Given the description of an element on the screen output the (x, y) to click on. 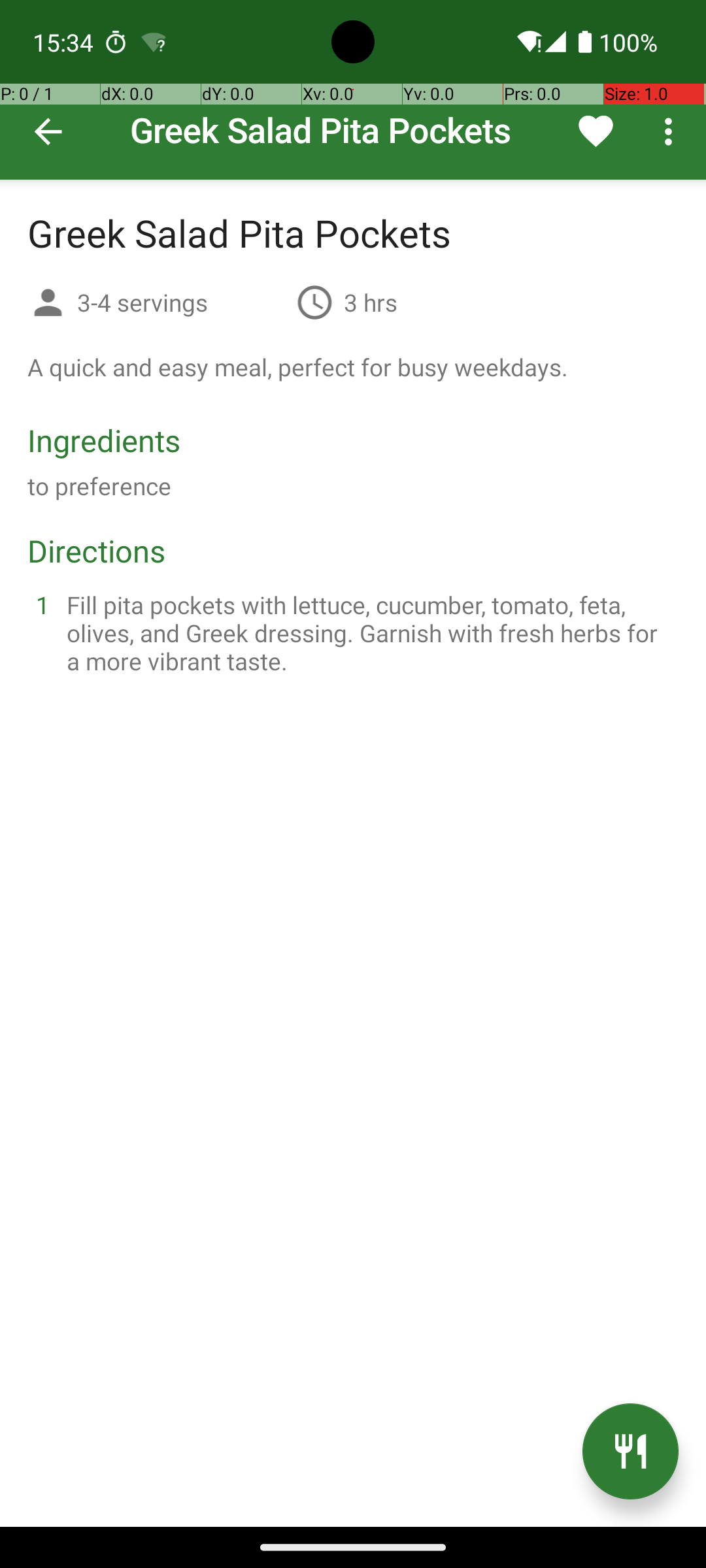
Greek Salad Pita Pockets Element type: android.widget.FrameLayout (353, 89)
Remove from favorites Element type: android.widget.Button (595, 131)
3-4 servings Element type: android.widget.TextView (181, 301)
3 hrs Element type: android.widget.TextView (370, 301)
to preference Element type: android.widget.TextView (99, 485)
Fill pita pockets with lettuce, cucumber, tomato, feta, olives, and Greek dressing. Garnish with fresh herbs for a more vibrant taste. Element type: android.widget.TextView (368, 632)
Android System notification: AndroidWifi has limited connectivity Element type: android.widget.ImageView (153, 41)
Wifi signal full.,No internet Element type: android.widget.FrameLayout (527, 41)
